Given the description of an element on the screen output the (x, y) to click on. 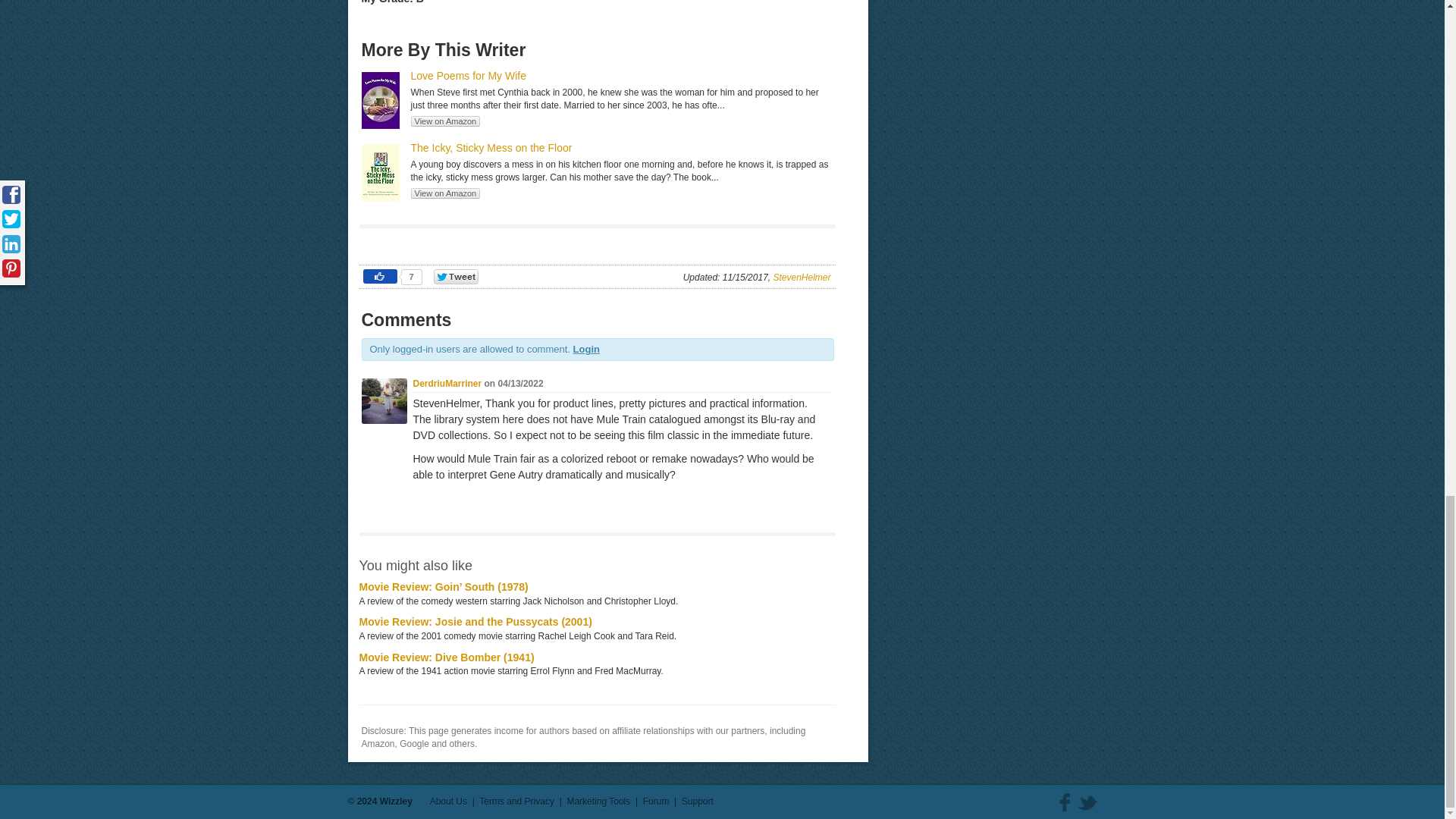
View on Amazon (445, 121)
The Icky, Sticky Mess on the Floor (491, 147)
StevenHelmer (801, 276)
Love Poems for My Wife (468, 75)
Twitter (1087, 802)
View on Amazon (445, 193)
